Given the description of an element on the screen output the (x, y) to click on. 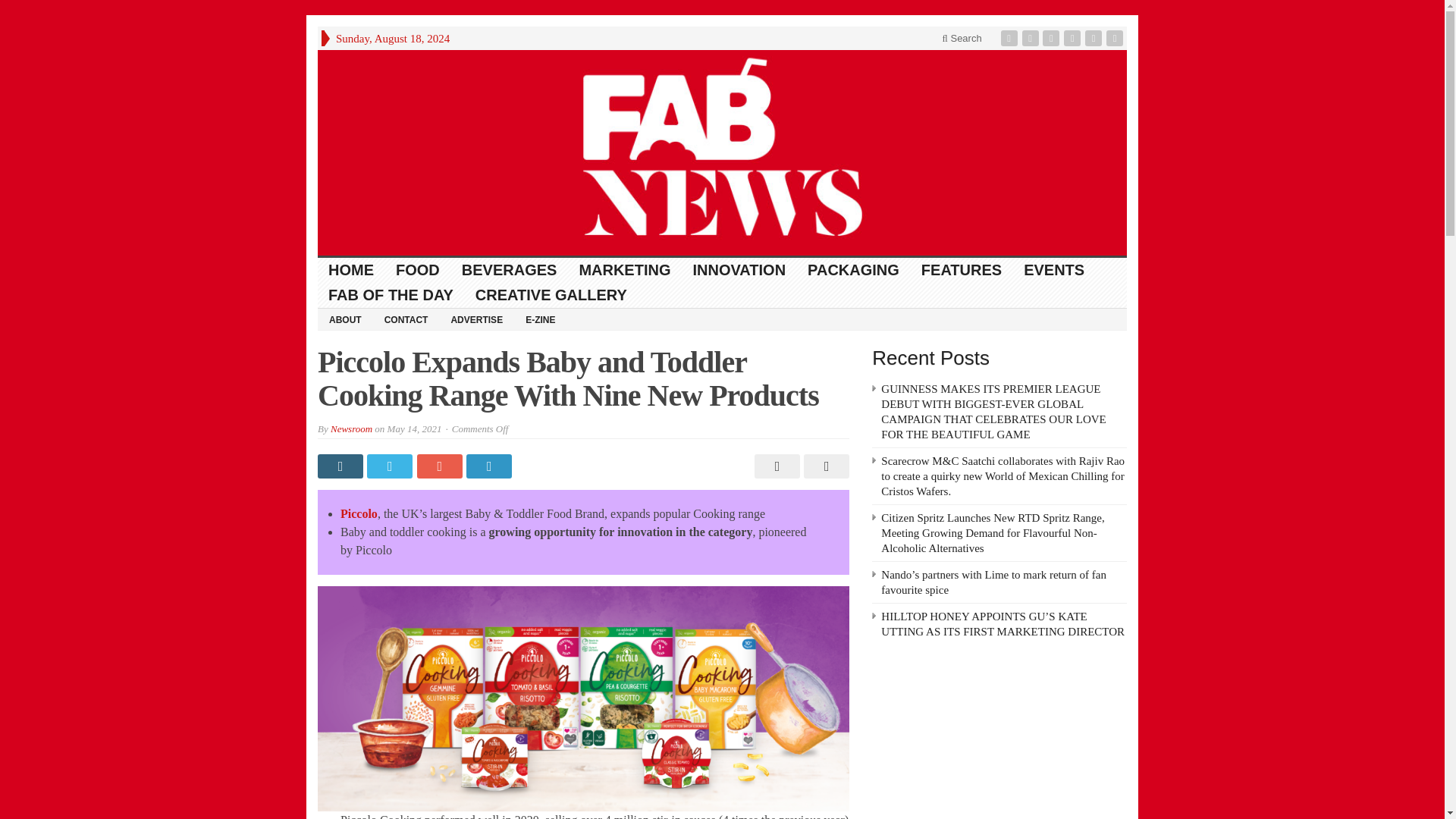
FEATURES (962, 269)
BEVERAGES (510, 269)
HOME (351, 269)
CREATIVE GALLERY (551, 294)
ABOUT (344, 319)
Twitter (1032, 37)
Newsroom (351, 428)
MARKETING (624, 269)
Print This Post (775, 466)
